Given the description of an element on the screen output the (x, y) to click on. 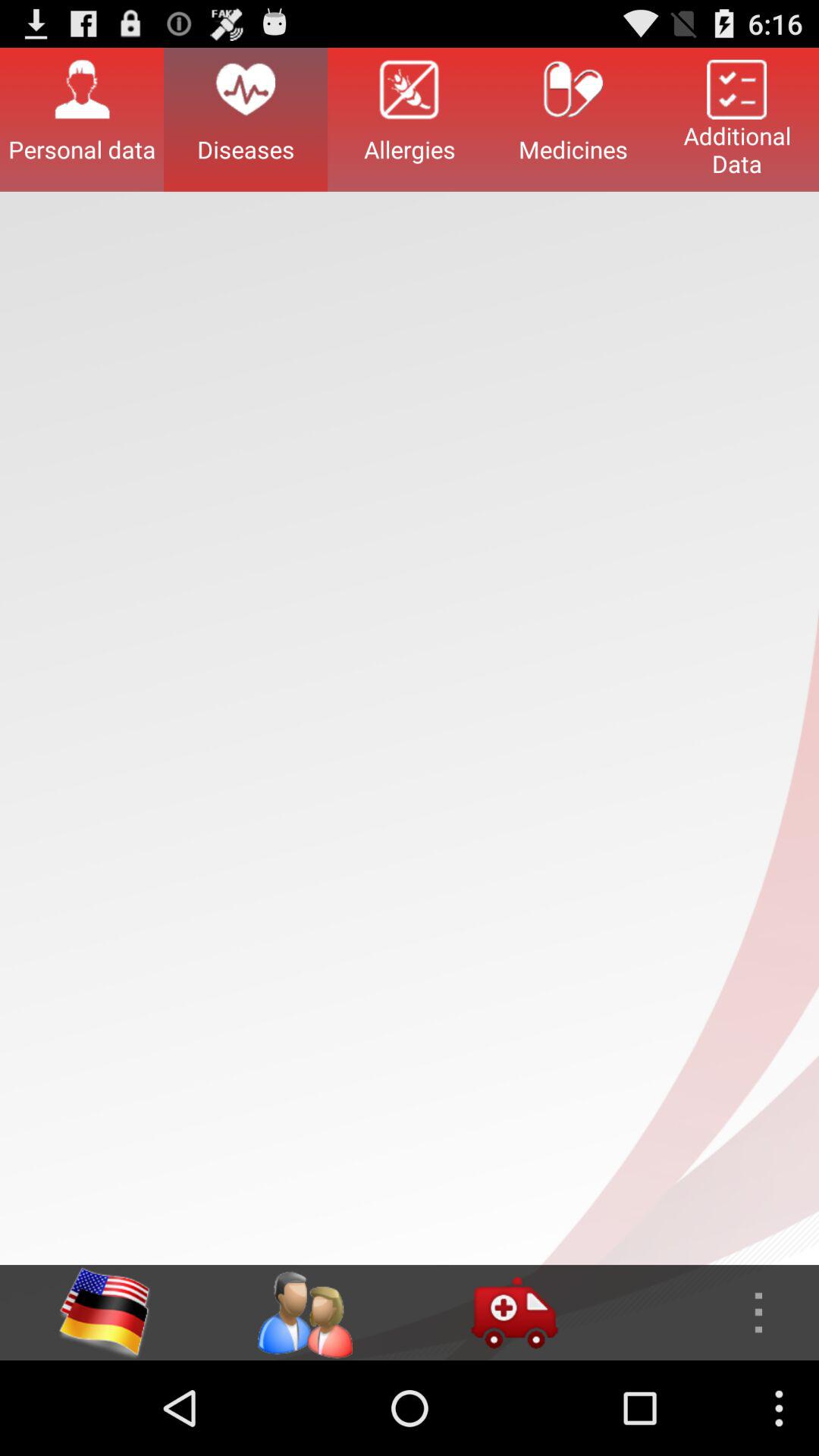
open the medicines item (573, 119)
